Given the description of an element on the screen output the (x, y) to click on. 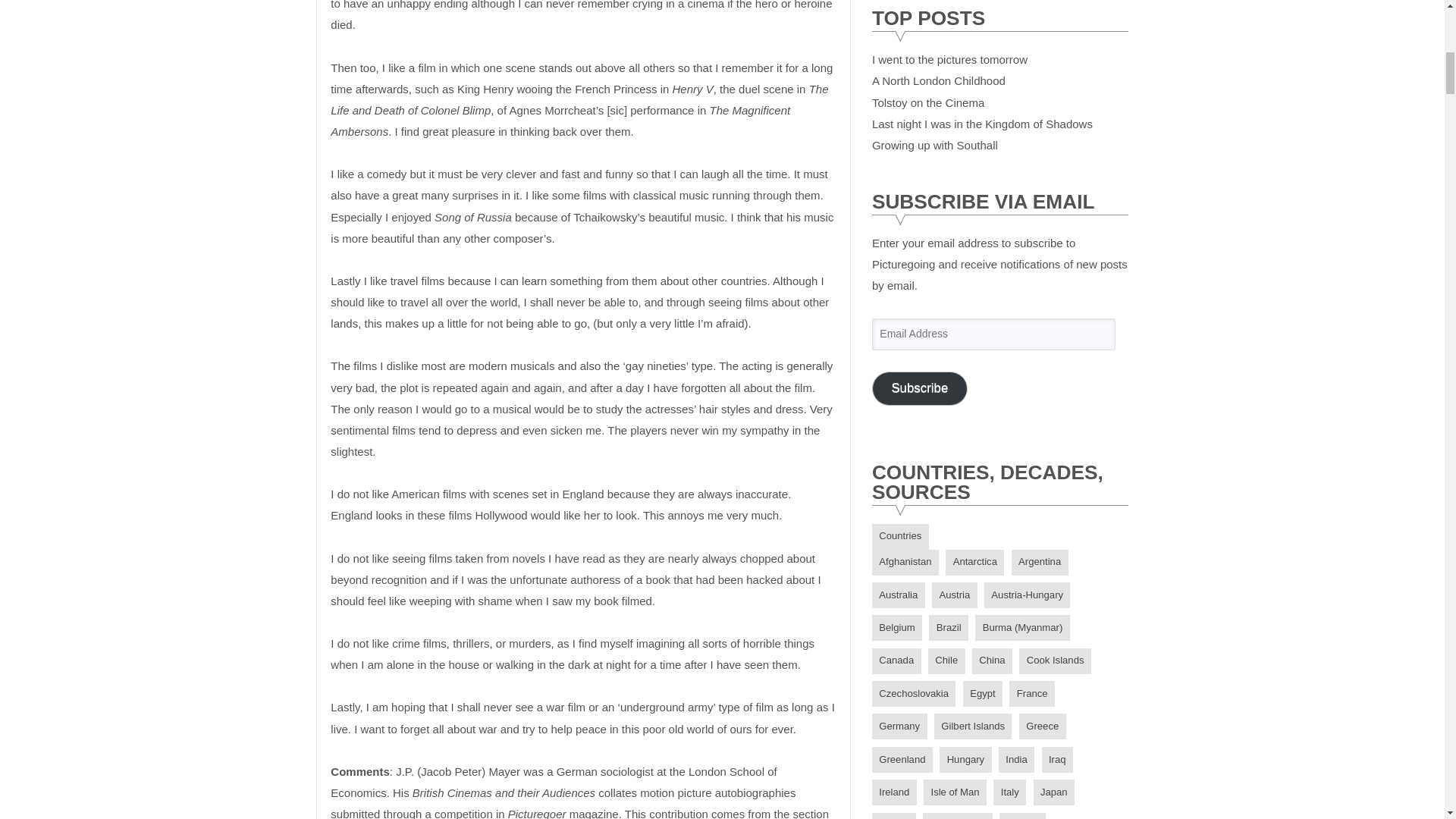
I went to the pictures tomorrow (949, 59)
A North London Childhood (939, 80)
